Given the description of an element on the screen output the (x, y) to click on. 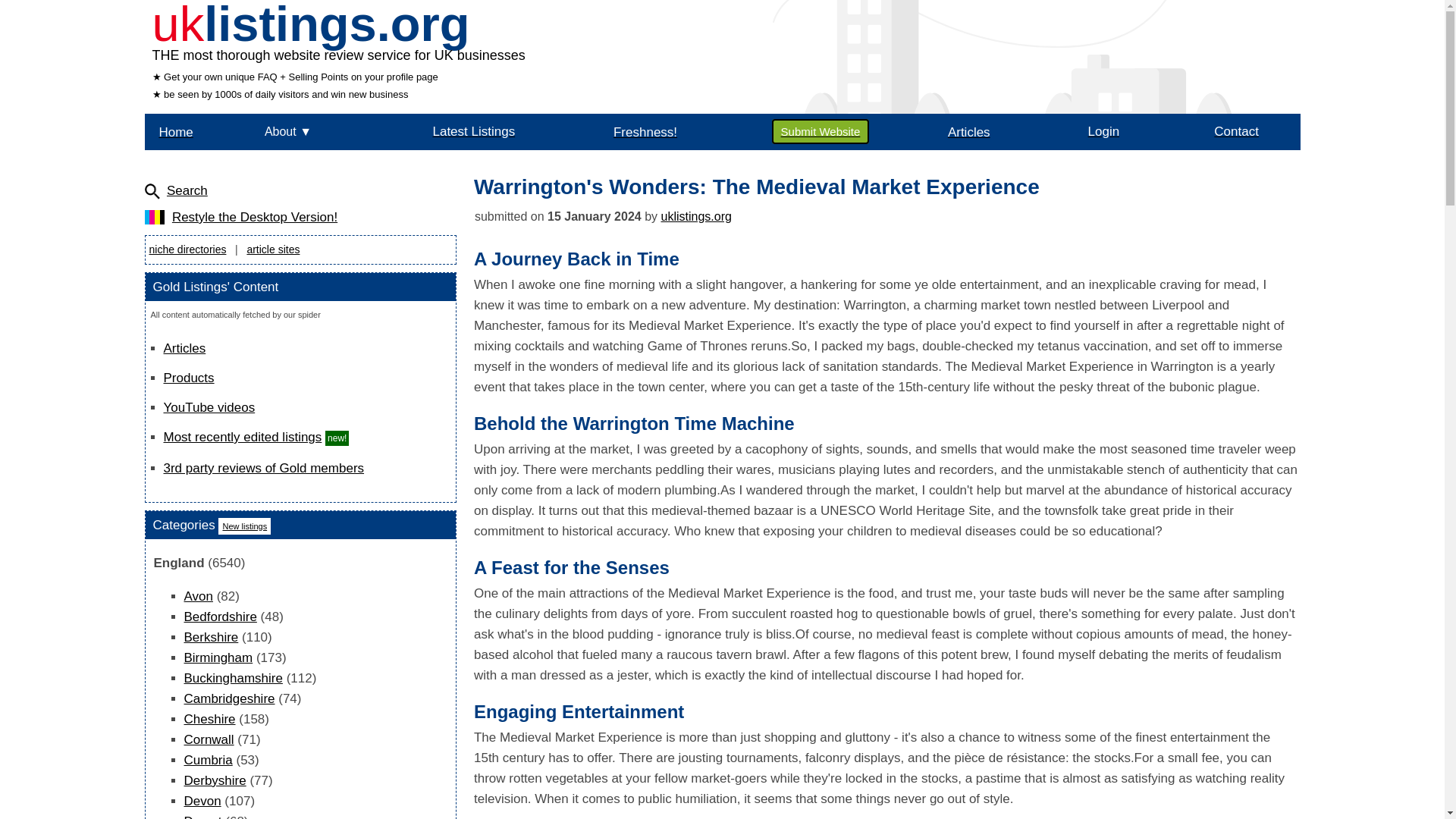
YouTube videos (209, 407)
article sites (272, 249)
Contact (1236, 131)
Birmingham (217, 657)
Buckinghamshire (232, 677)
Cumbria (207, 759)
niche directories (186, 249)
Articles (968, 131)
Articles (184, 348)
Cheshire (208, 718)
